Given the description of an element on the screen output the (x, y) to click on. 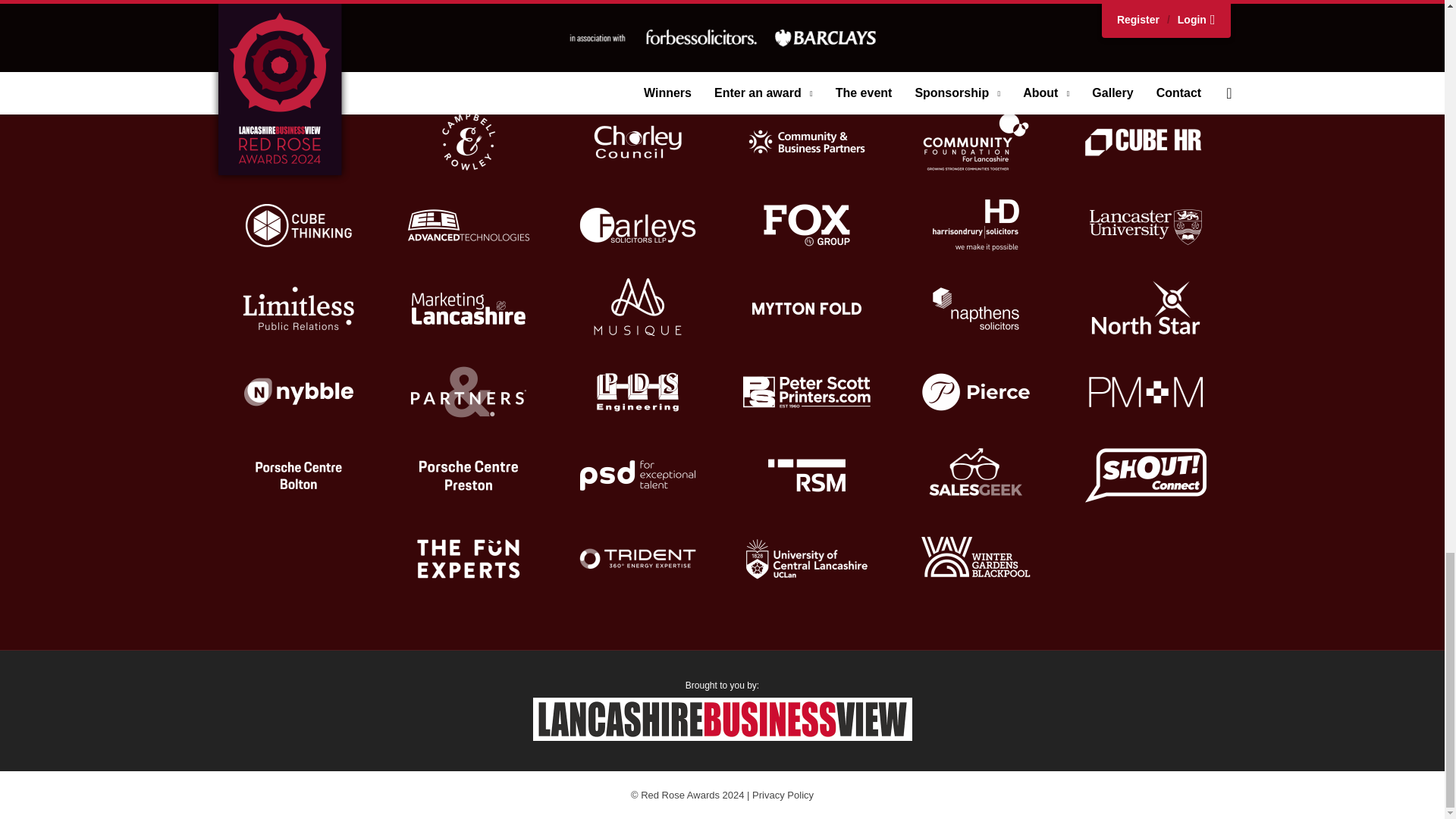
Chorley Borough Council (637, 141)
Alcidion (468, 57)
Community and Business Partners (806, 141)
Begbies Traynor (637, 57)
Brewin Dolphin (976, 57)
Burnley College  (1145, 57)
Burnley Football Club (299, 141)
Bigtank (806, 57)
